Given the description of an element on the screen output the (x, y) to click on. 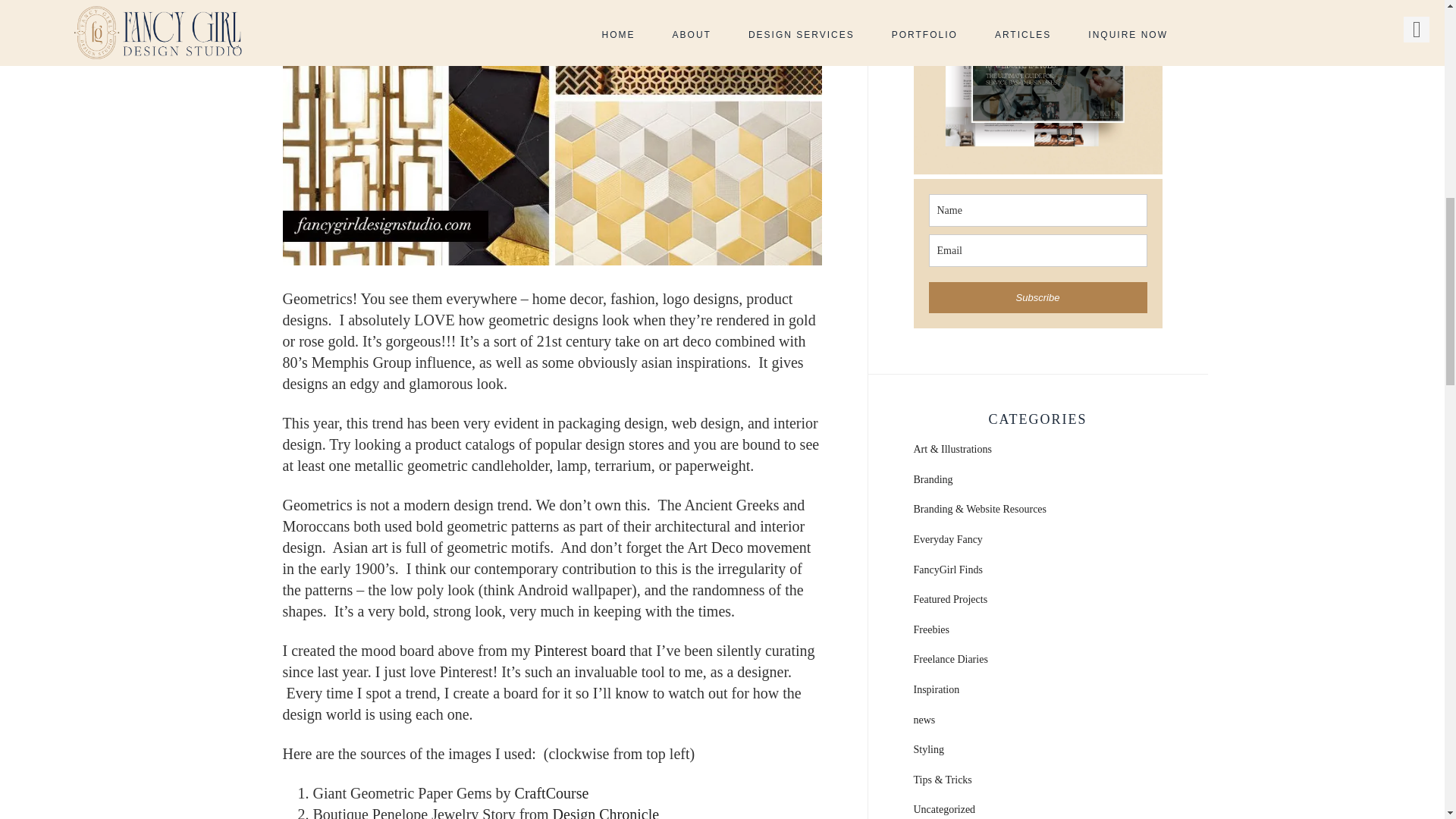
Design Chronicle (606, 812)
Pinterest board (580, 650)
CraftCourse (552, 792)
